Given the description of an element on the screen output the (x, y) to click on. 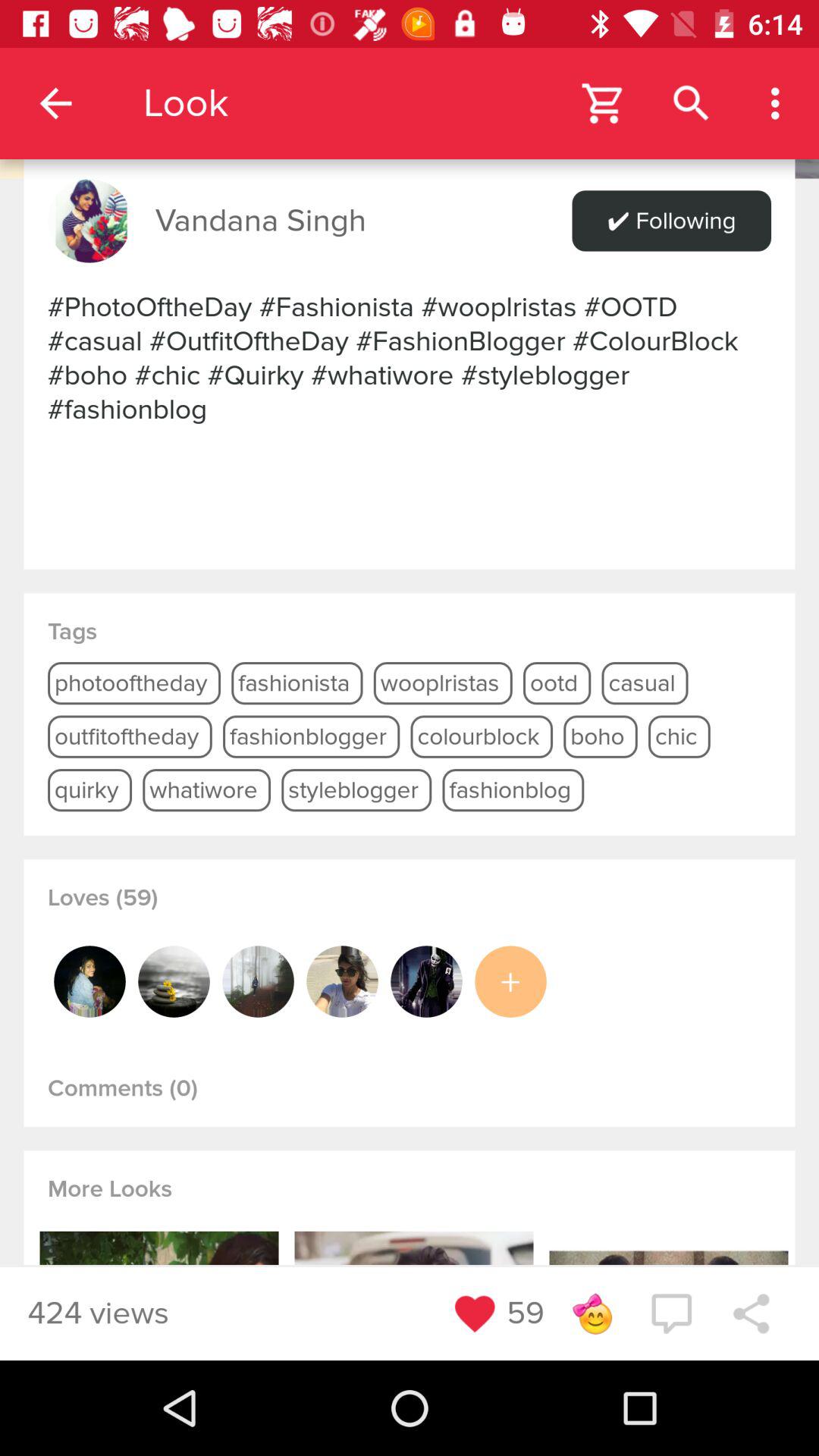
open profile (342, 981)
